Given the description of an element on the screen output the (x, y) to click on. 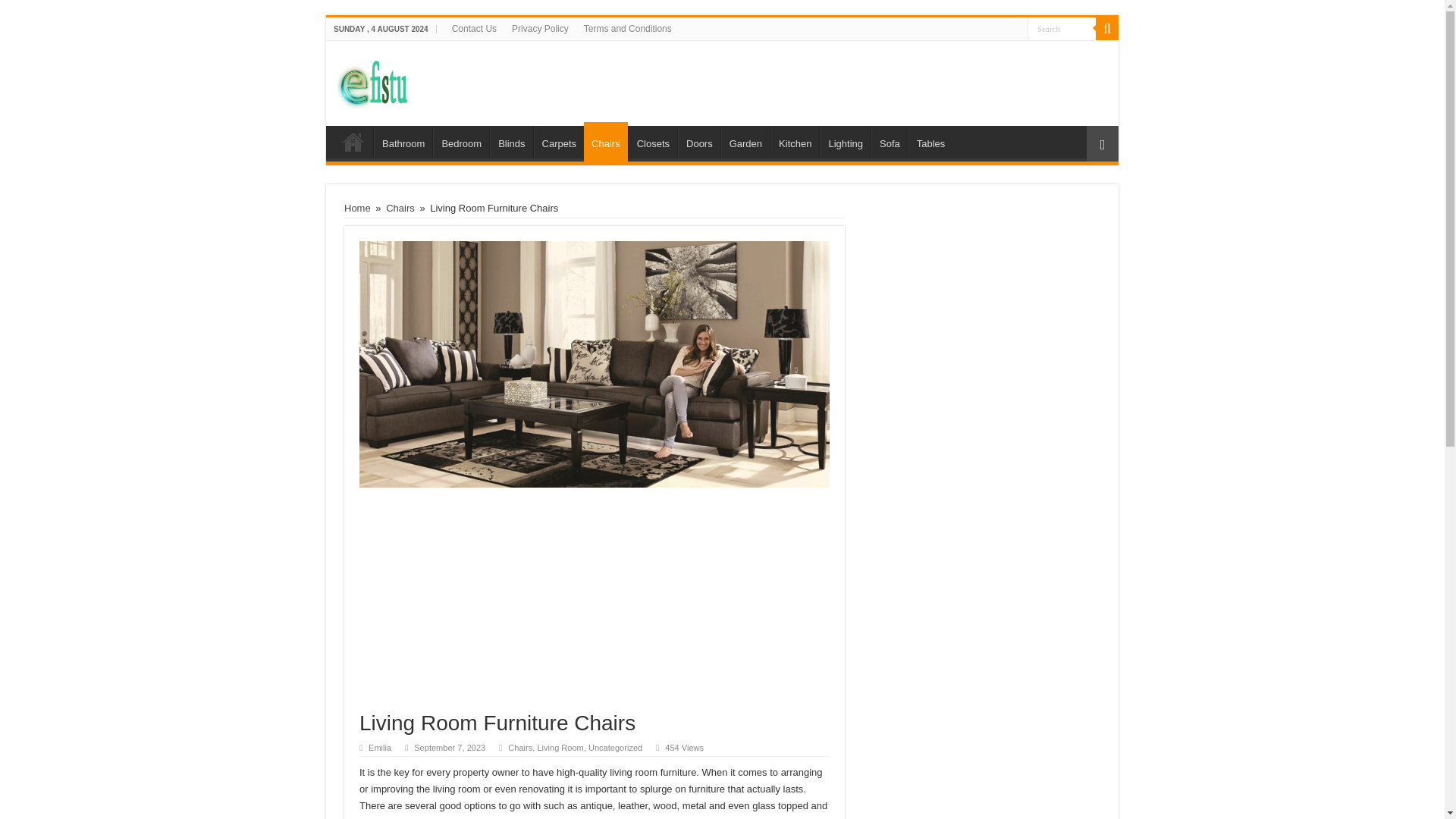
Uncategorized (615, 747)
Terms and Conditions (627, 28)
Search (1061, 28)
Chairs (399, 207)
Home (357, 207)
Search (1061, 28)
Living Room Furniture Chairs (594, 364)
Kitchen (794, 142)
Bedroom (460, 142)
Privacy Policy (539, 28)
